Given the description of an element on the screen output the (x, y) to click on. 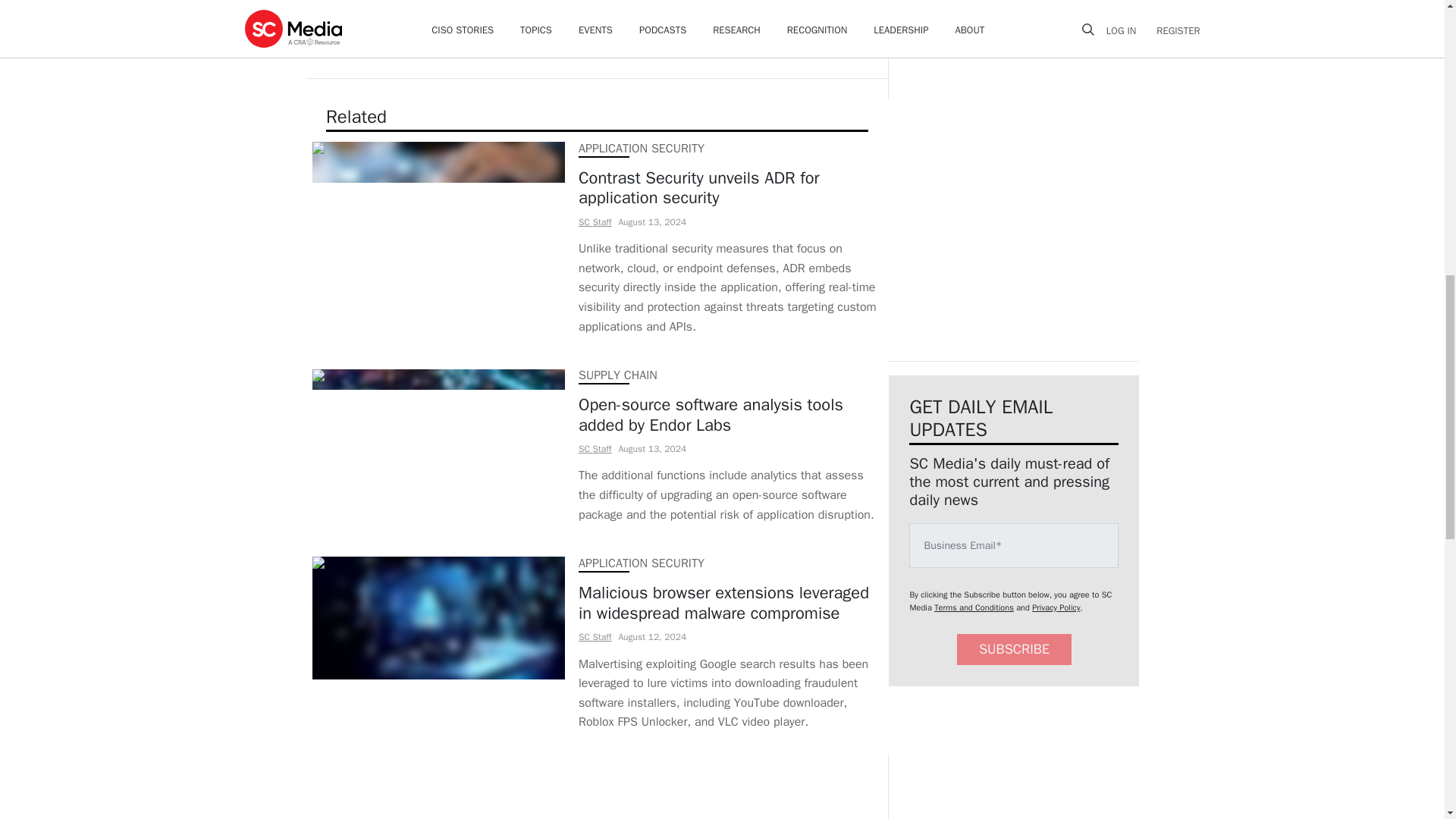
Doug Olenick (464, 52)
Open-source software analysis tools added by Endor Labs (729, 414)
APPLICATION SECURITY (640, 563)
Terms and Conditions (973, 606)
APPLICATION SECURITY (640, 148)
SC Staff (594, 636)
SC Staff (594, 222)
SC Staff (594, 449)
SUBSCRIBE (1013, 649)
Contrast Security unveils ADR for application security (729, 188)
